Given the description of an element on the screen output the (x, y) to click on. 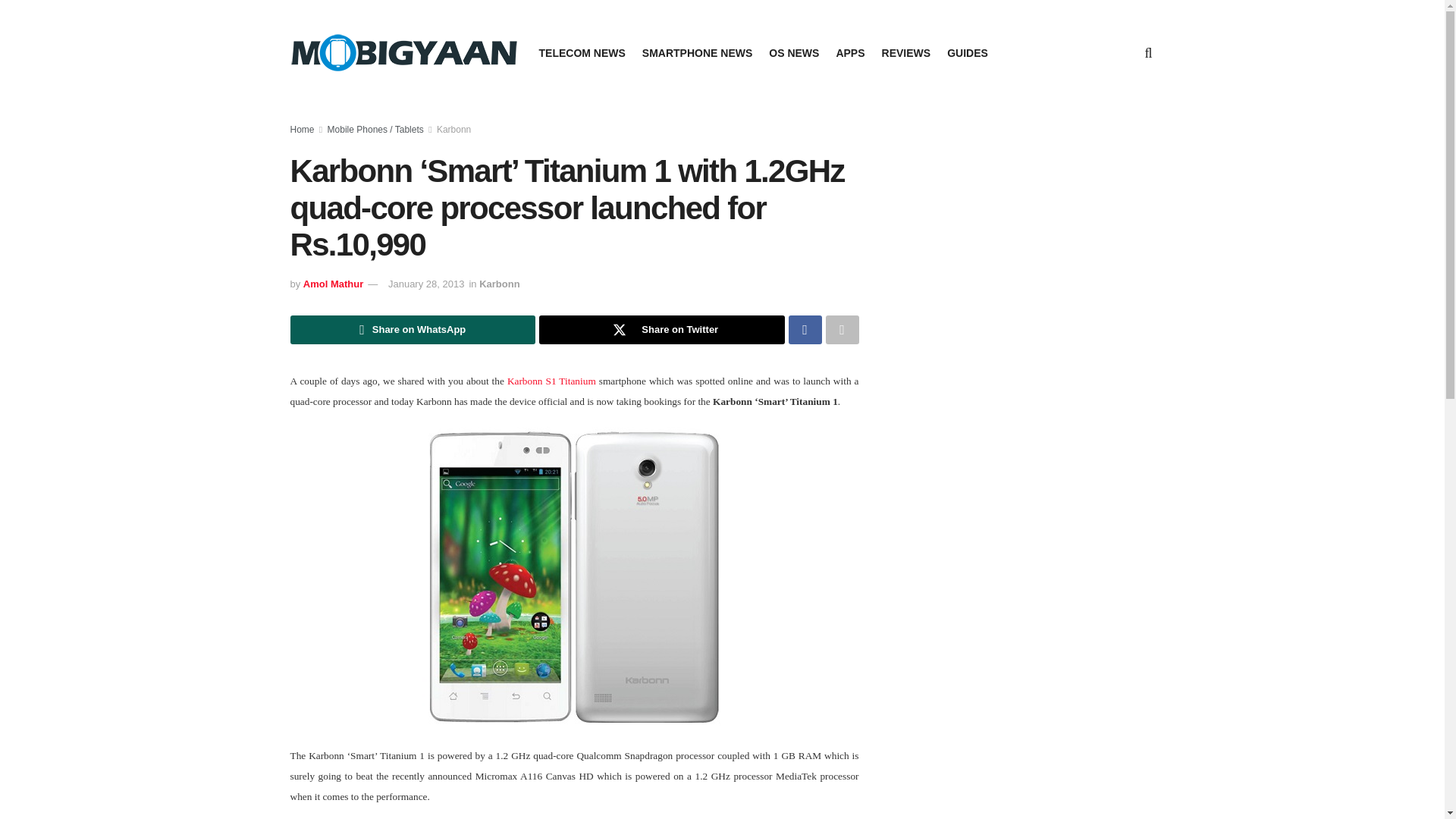
APPS (849, 52)
TELECOM NEWS (581, 52)
OS NEWS (793, 52)
REVIEWS (906, 52)
Karbonn (453, 129)
Amol Mathur (332, 283)
Share on WhatsApp (412, 329)
January 28, 2013 (426, 283)
Karbonn S1 Titanium (550, 380)
Share on Twitter (661, 329)
